Given the description of an element on the screen output the (x, y) to click on. 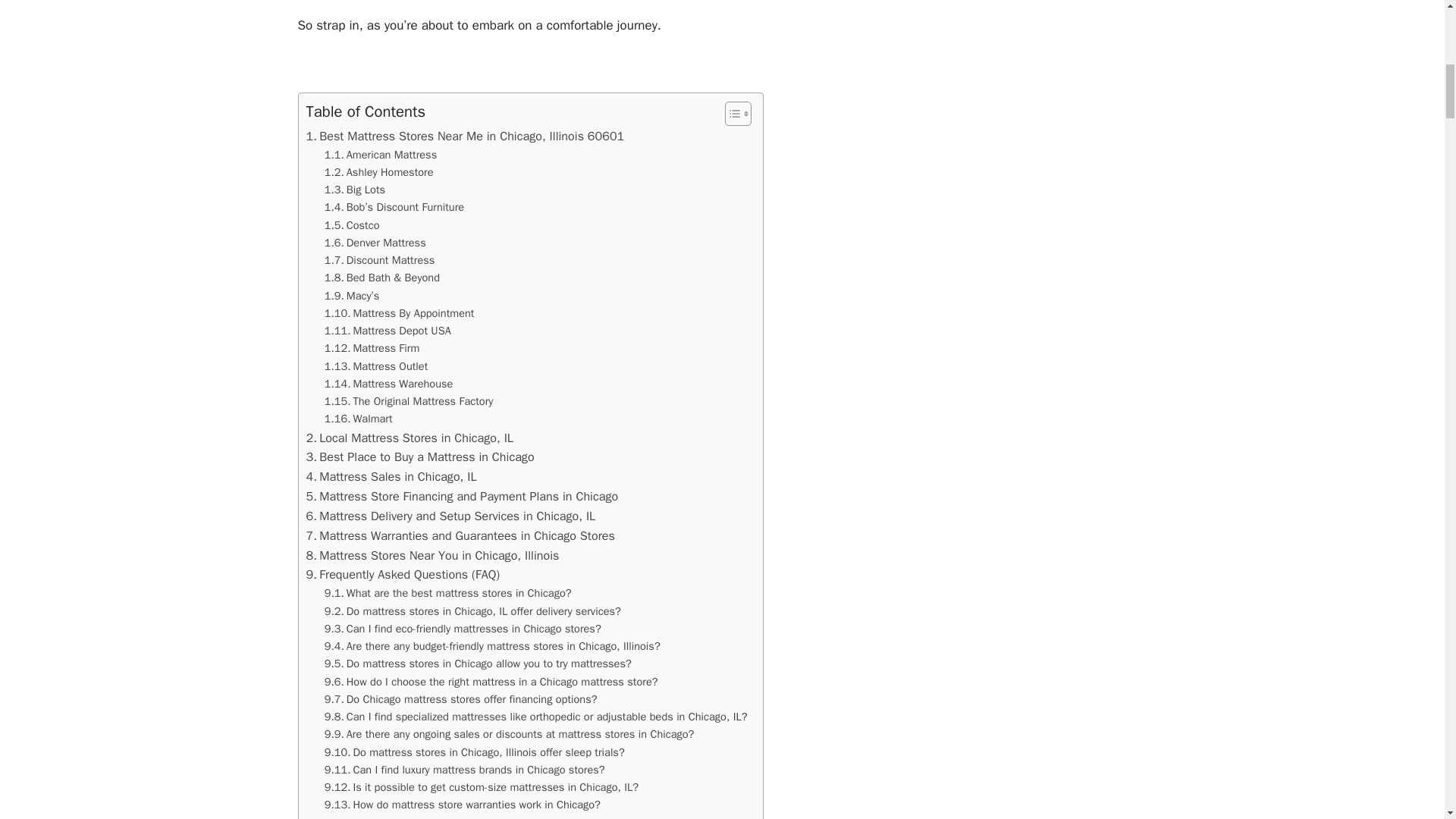
Discount Mattress (379, 260)
Costco (352, 225)
Best Mattress Stores Near Me in Chicago, Illinois 60601 (464, 136)
American Mattress (380, 154)
Denver Mattress (375, 242)
Big Lots (354, 189)
Ashley Homestore (378, 171)
